Given the description of an element on the screen output the (x, y) to click on. 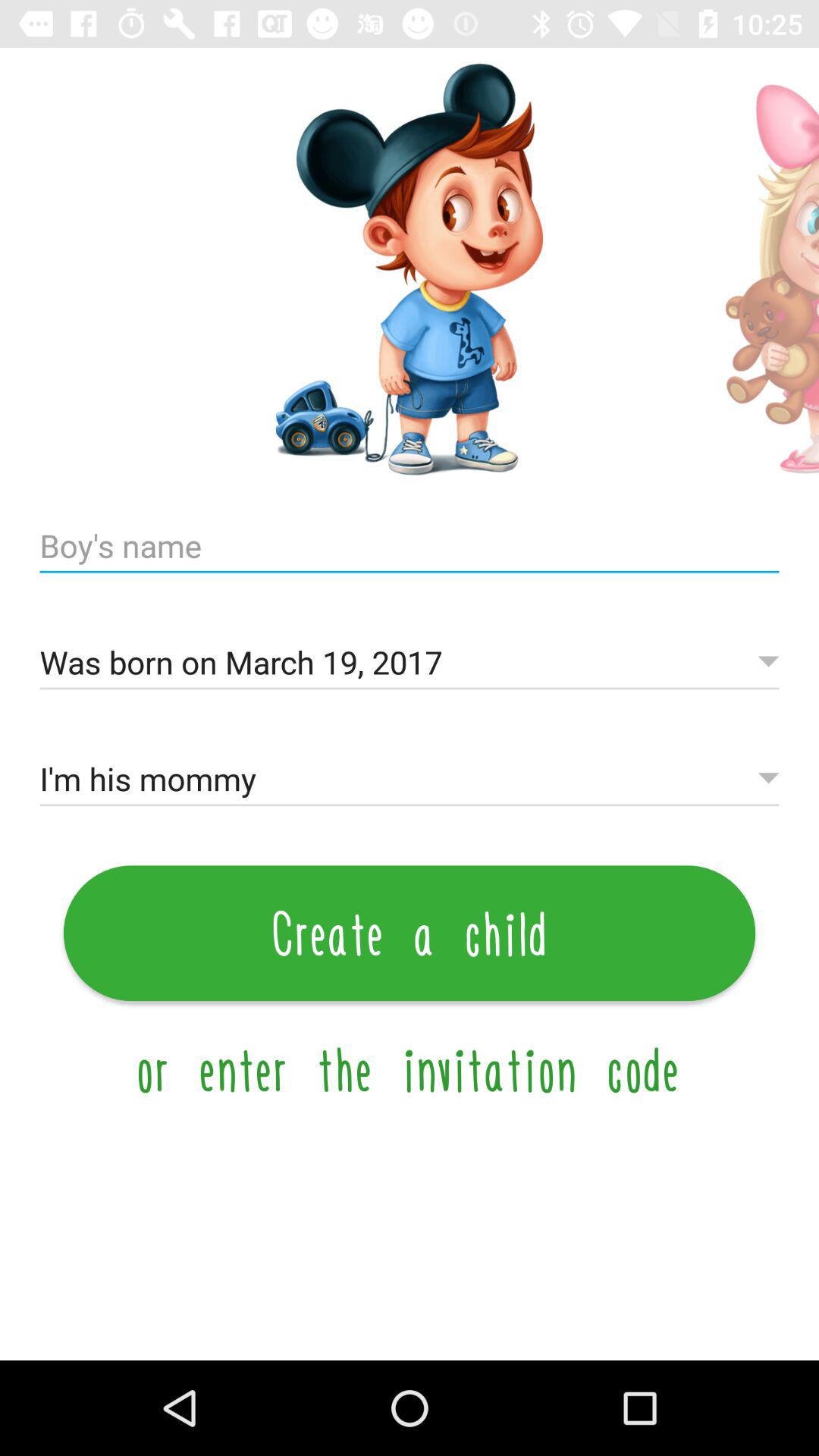
jump until create a child icon (409, 933)
